Given the description of an element on the screen output the (x, y) to click on. 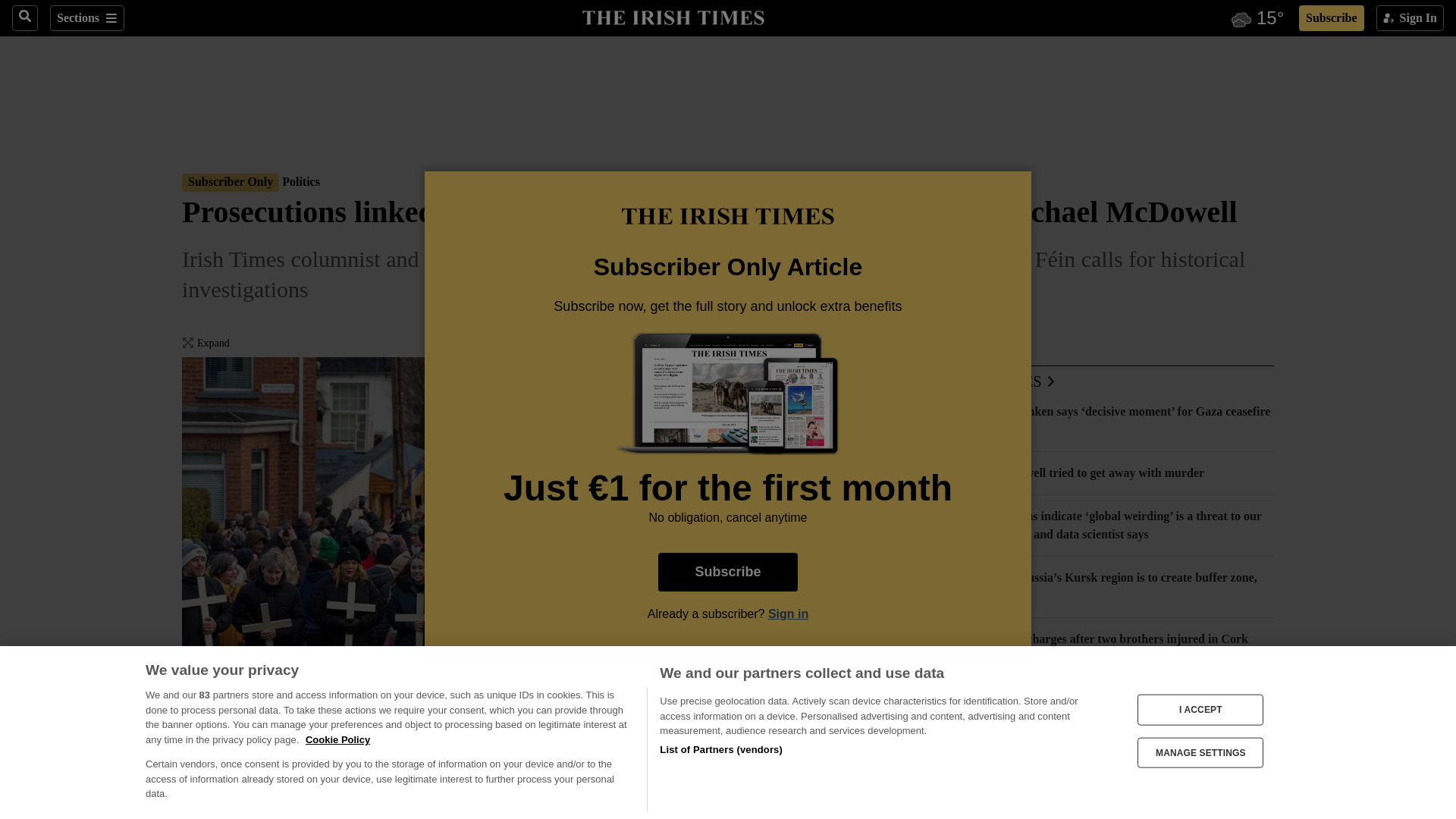
The Irish Times (673, 16)
Sign In (1409, 17)
Sections (86, 17)
Subscribe (1331, 17)
